Given the description of an element on the screen output the (x, y) to click on. 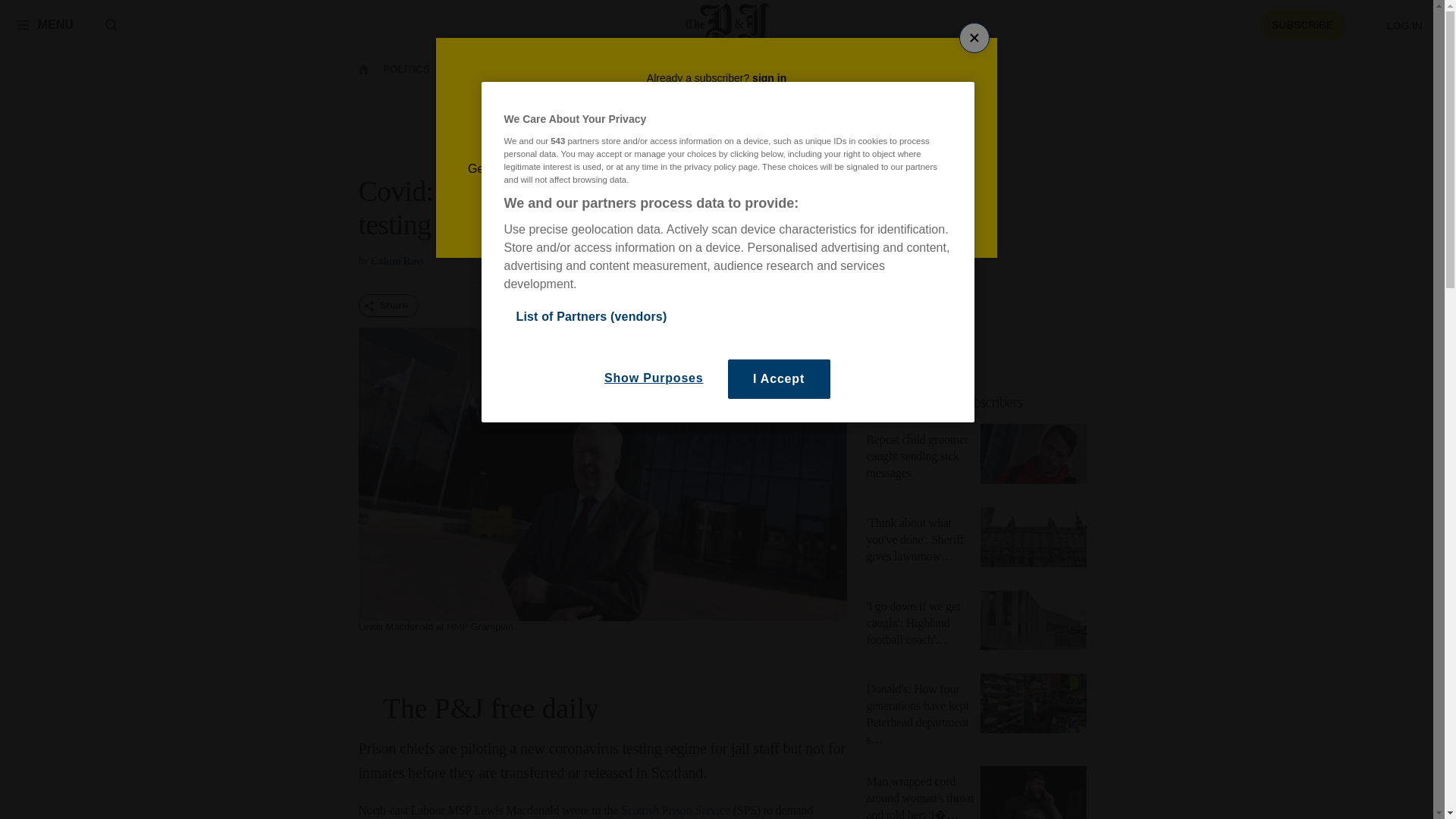
Repeat child groomer caught sending sick messages (1032, 456)
Repeat child groomer caught sending sick messages (917, 456)
Press and Journal (727, 24)
MENU (44, 24)
Exclusive to our subscribers (981, 402)
